Given the description of an element on the screen output the (x, y) to click on. 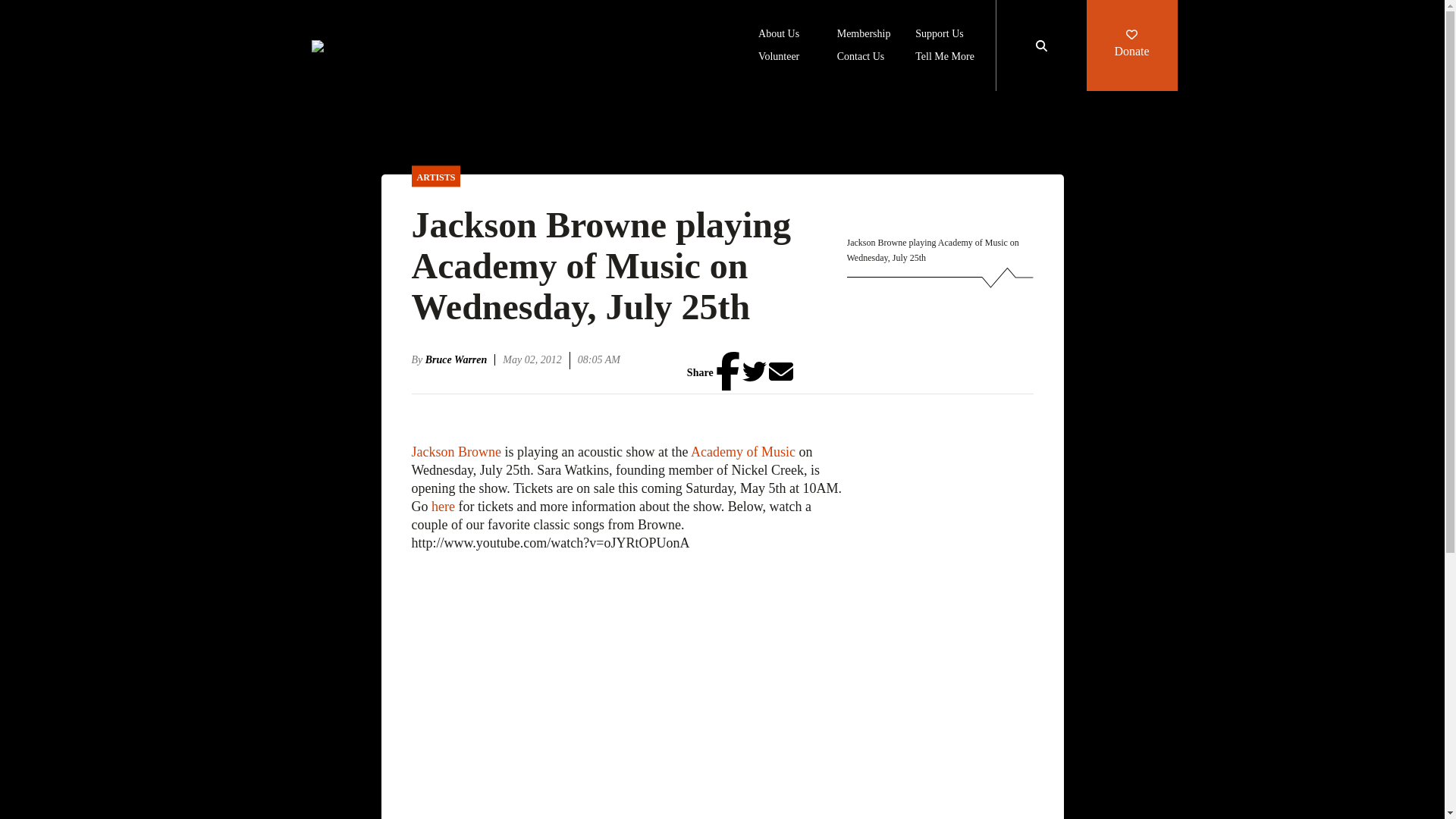
Support Us (938, 35)
Bruce Warren (460, 359)
Volunteer (778, 57)
Donate (1131, 45)
Tell Me More (944, 57)
Membership (864, 35)
here (442, 506)
Jackson Browne For A Dancer (627, 685)
Contact Us (861, 57)
Academy of Music (742, 451)
